Given the description of an element on the screen output the (x, y) to click on. 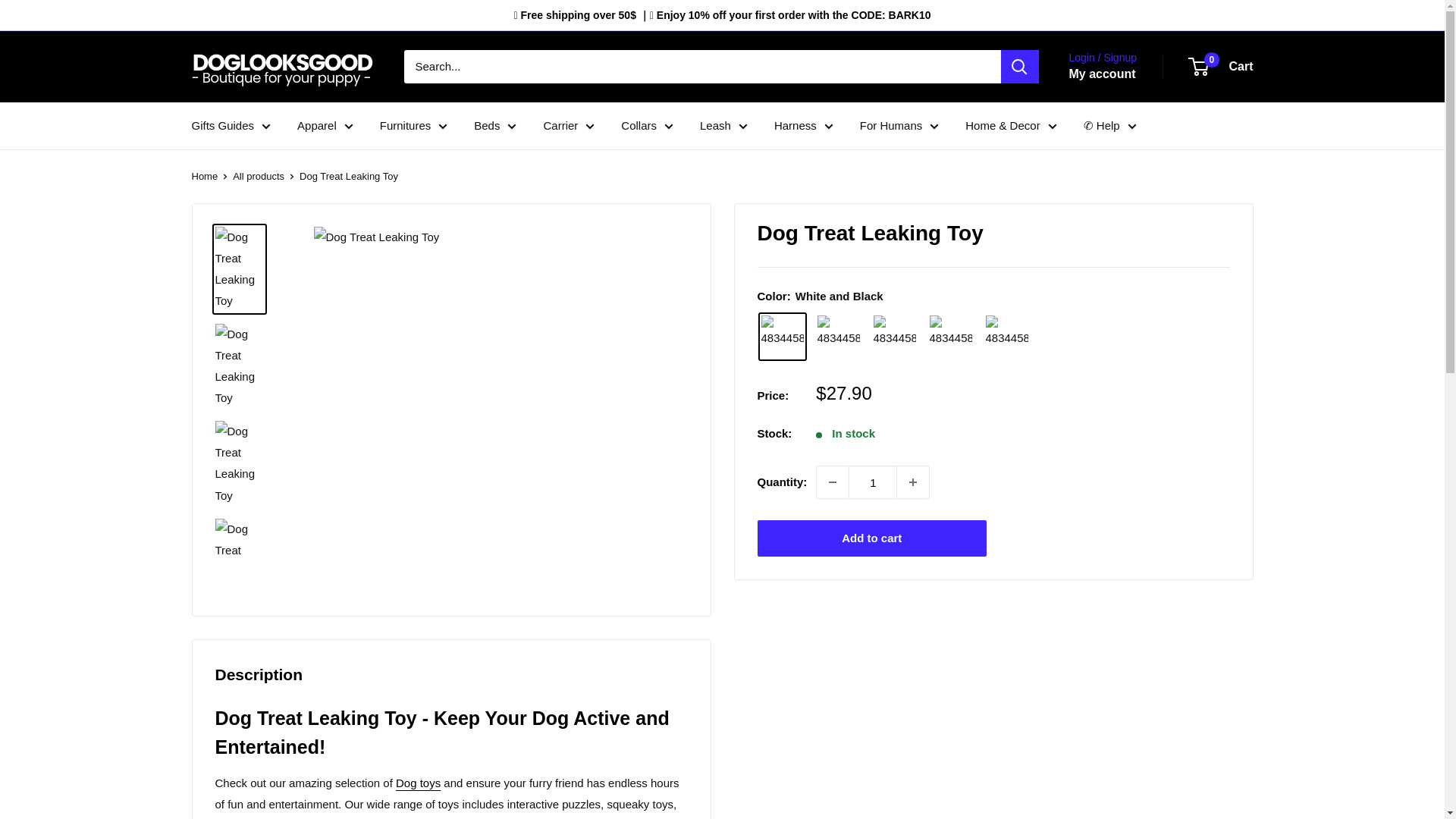
White and Black (782, 336)
1 (872, 481)
Black (838, 336)
Increase quantity by 1 (912, 481)
Turquoise (950, 336)
Yellow (1006, 336)
Decrease quantity by 1 (832, 481)
Green (894, 336)
